Given the description of an element on the screen output the (x, y) to click on. 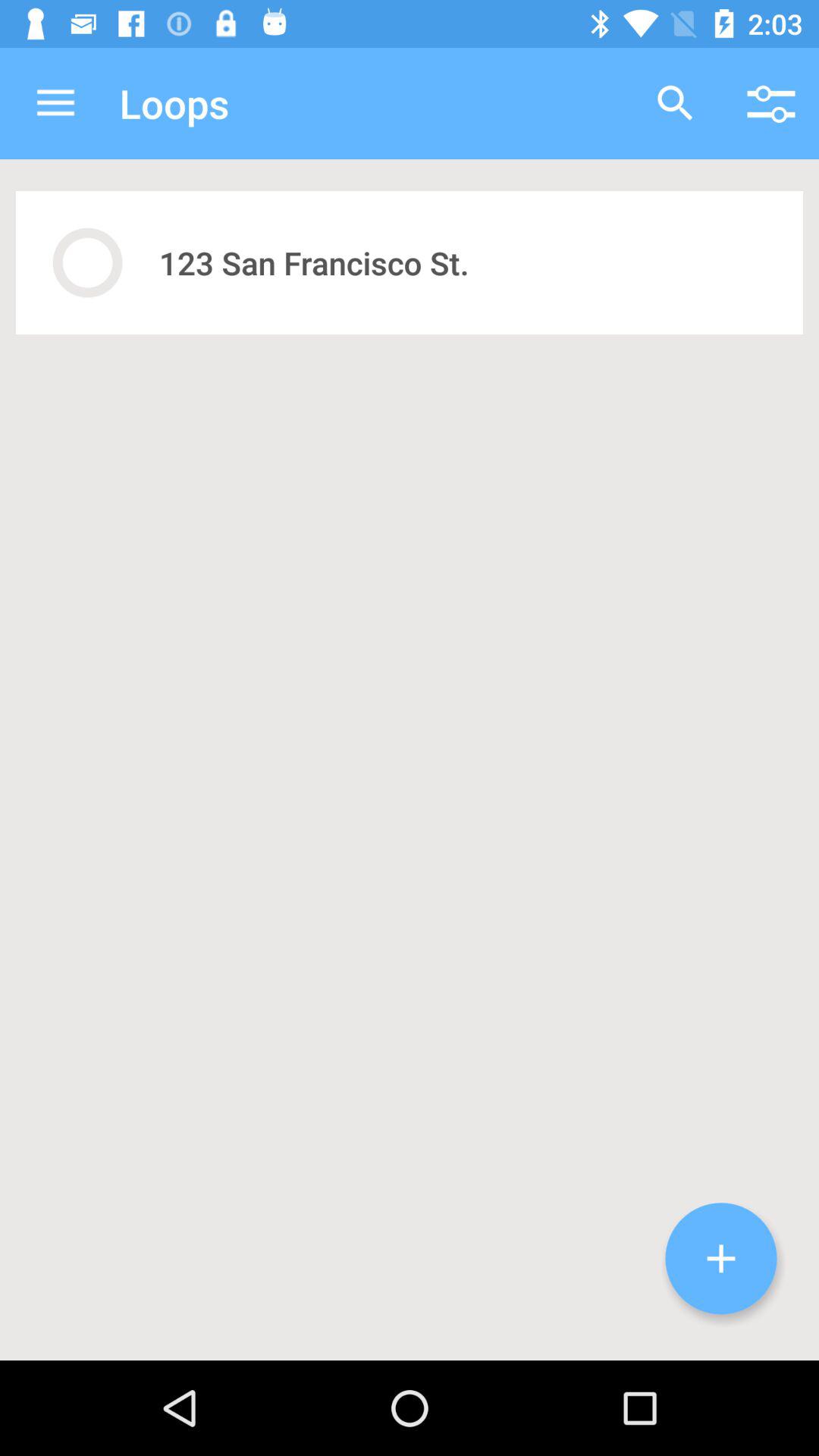
turn on the icon to the left of loops item (55, 103)
